Given the description of an element on the screen output the (x, y) to click on. 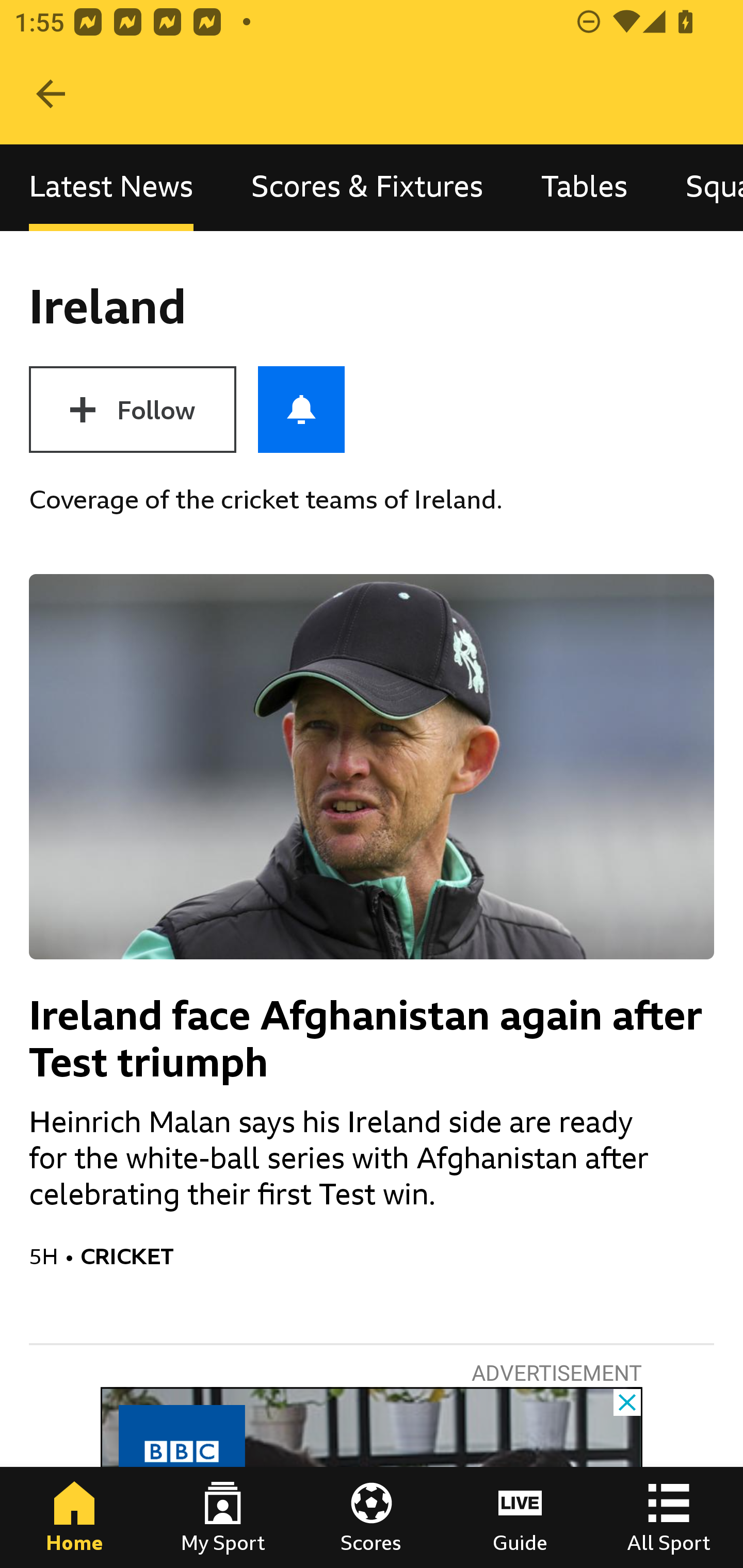
Navigate up (50, 93)
Latest News, selected Latest News (111, 187)
Scores & Fixtures (367, 187)
Tables (584, 187)
Squad (699, 187)
Follow Ireland Follow (132, 409)
Push notifications for Ireland (300, 409)
My Sport (222, 1517)
Scores (371, 1517)
Guide (519, 1517)
All Sport (668, 1517)
